Given the description of an element on the screen output the (x, y) to click on. 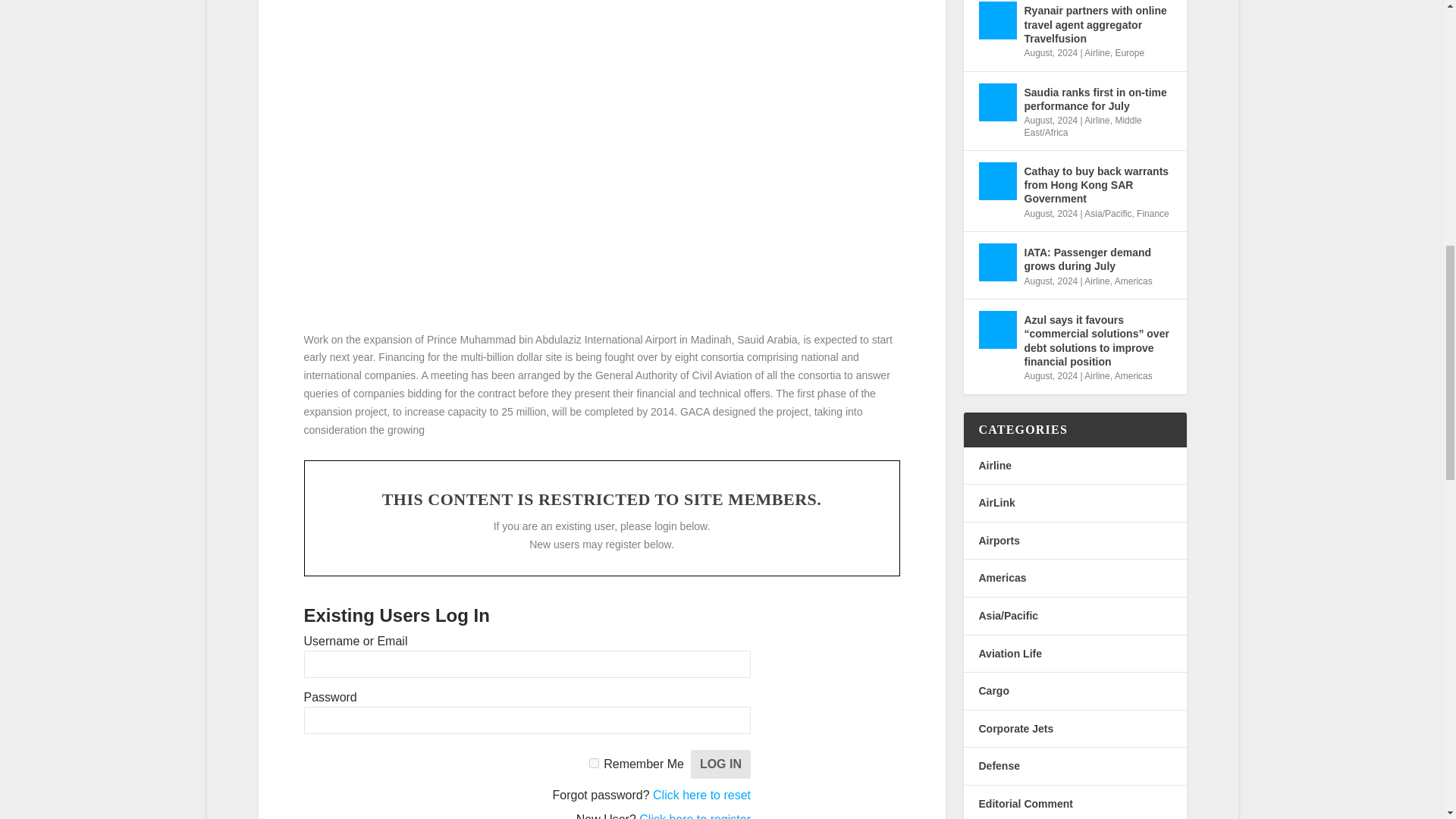
Cathay to buy back warrants from Hong Kong SAR Government (997, 180)
forever (593, 763)
Log In (720, 764)
Saudia ranks first in on-time performance for July (997, 102)
